Given the description of an element on the screen output the (x, y) to click on. 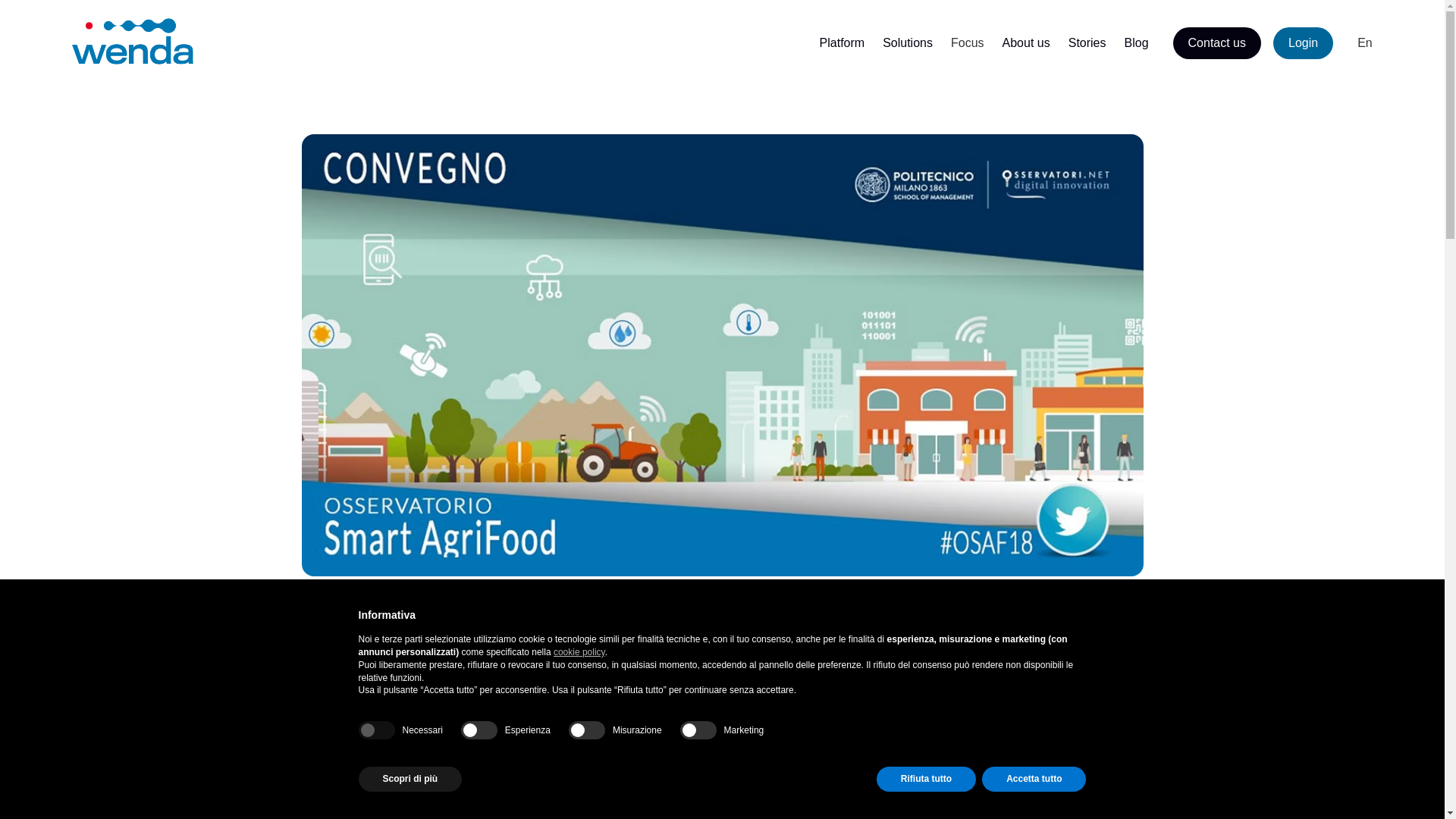
Blog (1136, 42)
About us (1026, 42)
Accetta tutto (1033, 778)
false (697, 730)
false (587, 730)
cookie policy (579, 652)
false (479, 730)
true (376, 730)
Contact us (1216, 42)
Login (1302, 42)
Platform (841, 42)
Stories (1087, 42)
Solutions (907, 42)
Rifiuta tutto (925, 778)
